Given the description of an element on the screen output the (x, y) to click on. 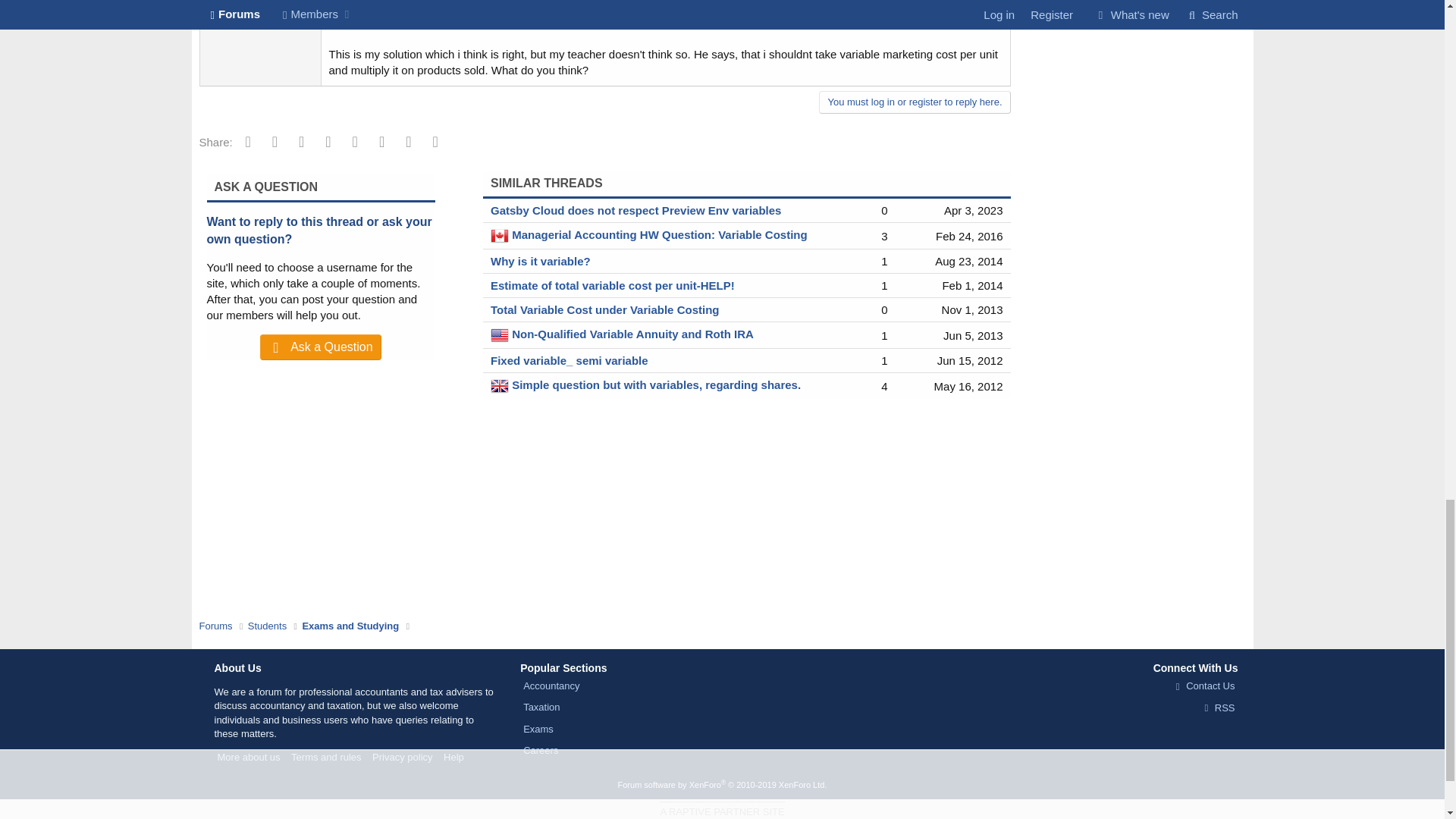
May 16, 2012 at 11:53 AM (968, 386)
Aug 23, 2014 at 4:11 AM (968, 260)
Nov 1, 2013 at 6:33 PM (972, 309)
Twitter (275, 141)
Feb 1, 2014 at 6:27 PM (972, 285)
my solution.jpg (666, 22)
Reddit (301, 141)
Feb 24, 2016 at 7:54 AM (969, 236)
You must log in or register to reply here. (914, 101)
Facebook (248, 141)
Jun 5, 2013 at 3:35 AM (973, 335)
Apr 3, 2023 at 8:41 AM (973, 210)
Jun 15, 2012 at 6:01 PM (970, 359)
